Given the description of an element on the screen output the (x, y) to click on. 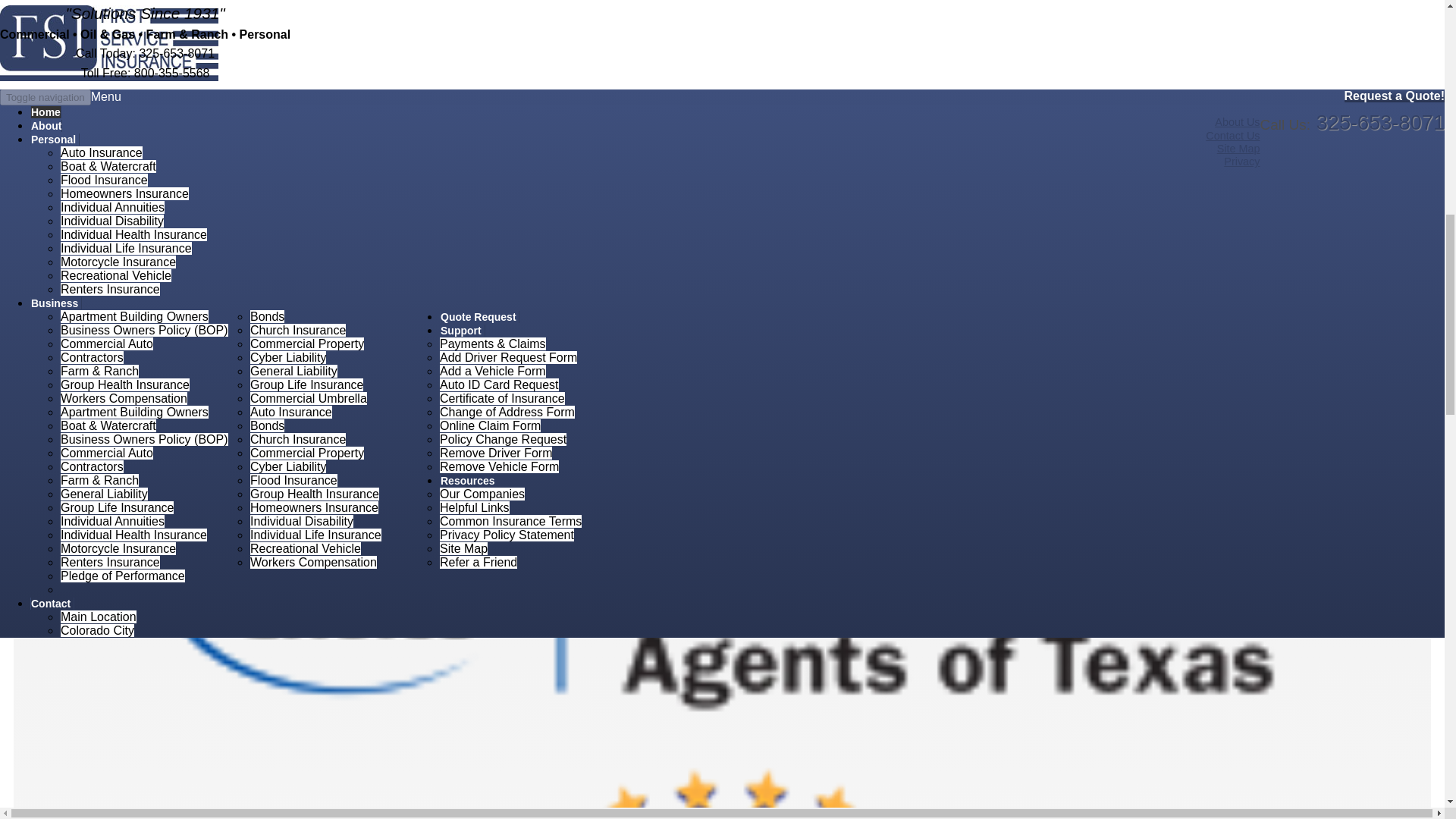
Start Secure Request (722, 251)
